Given the description of an element on the screen output the (x, y) to click on. 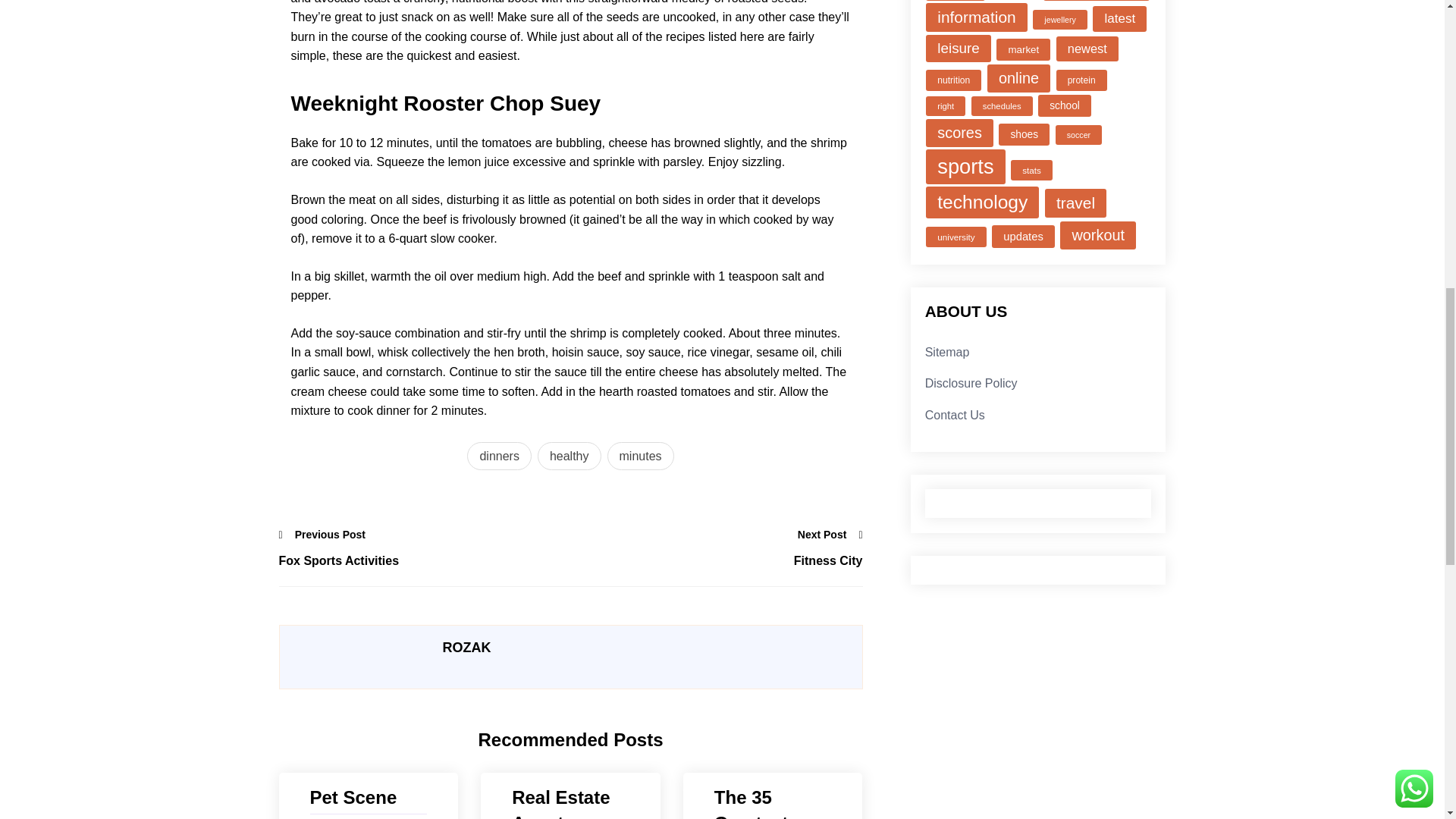
Next Post (830, 534)
Pet Scene (367, 797)
minutes (640, 456)
dinners (499, 456)
The 35 Greatest Workout Suggestions Of All Time (772, 801)
Real Estate Agents Melbourne (570, 801)
Previous Post (322, 534)
Fox Sports Activities (424, 560)
healthy (569, 456)
Fitness City (715, 560)
